Given the description of an element on the screen output the (x, y) to click on. 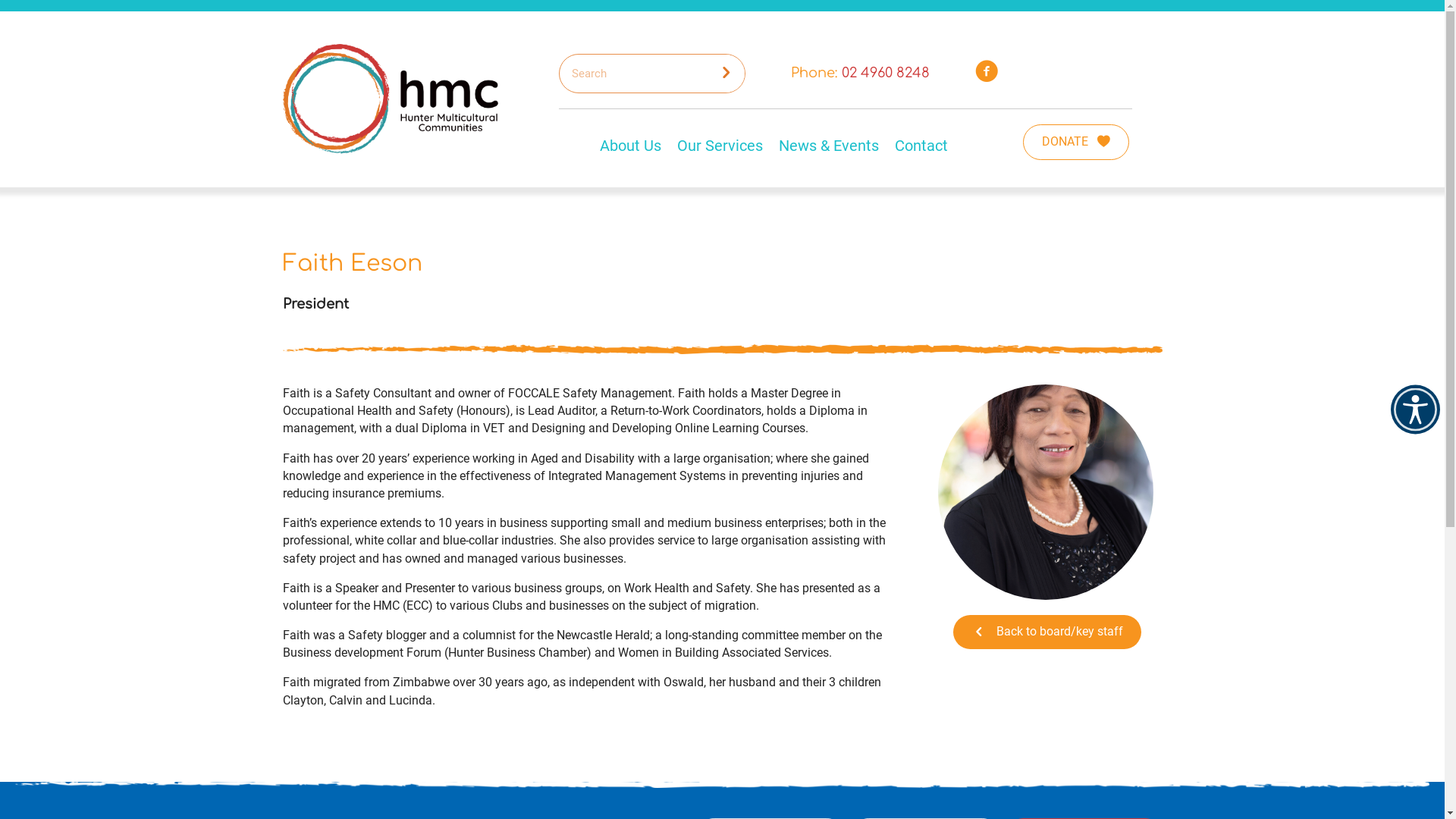
02 4960 8248 Element type: text (885, 72)
Back to board/key staff Element type: text (1046, 632)
Our Services Element type: text (719, 145)
Contact Element type: text (921, 145)
Hunter Multicultural Communities Element type: hover (389, 98)
hmc-chalkline-white-fullwidth Element type: hover (722, 783)
About Us Element type: text (630, 145)
hmc-chalkline-orange Element type: hover (721, 349)
News & Events Element type: text (828, 145)
DONATE Element type: text (1075, 142)
HMC-035A3855 Smart Photo - Faith Element type: hover (1044, 491)
Search Element type: hover (633, 73)
